Given the description of an element on the screen output the (x, y) to click on. 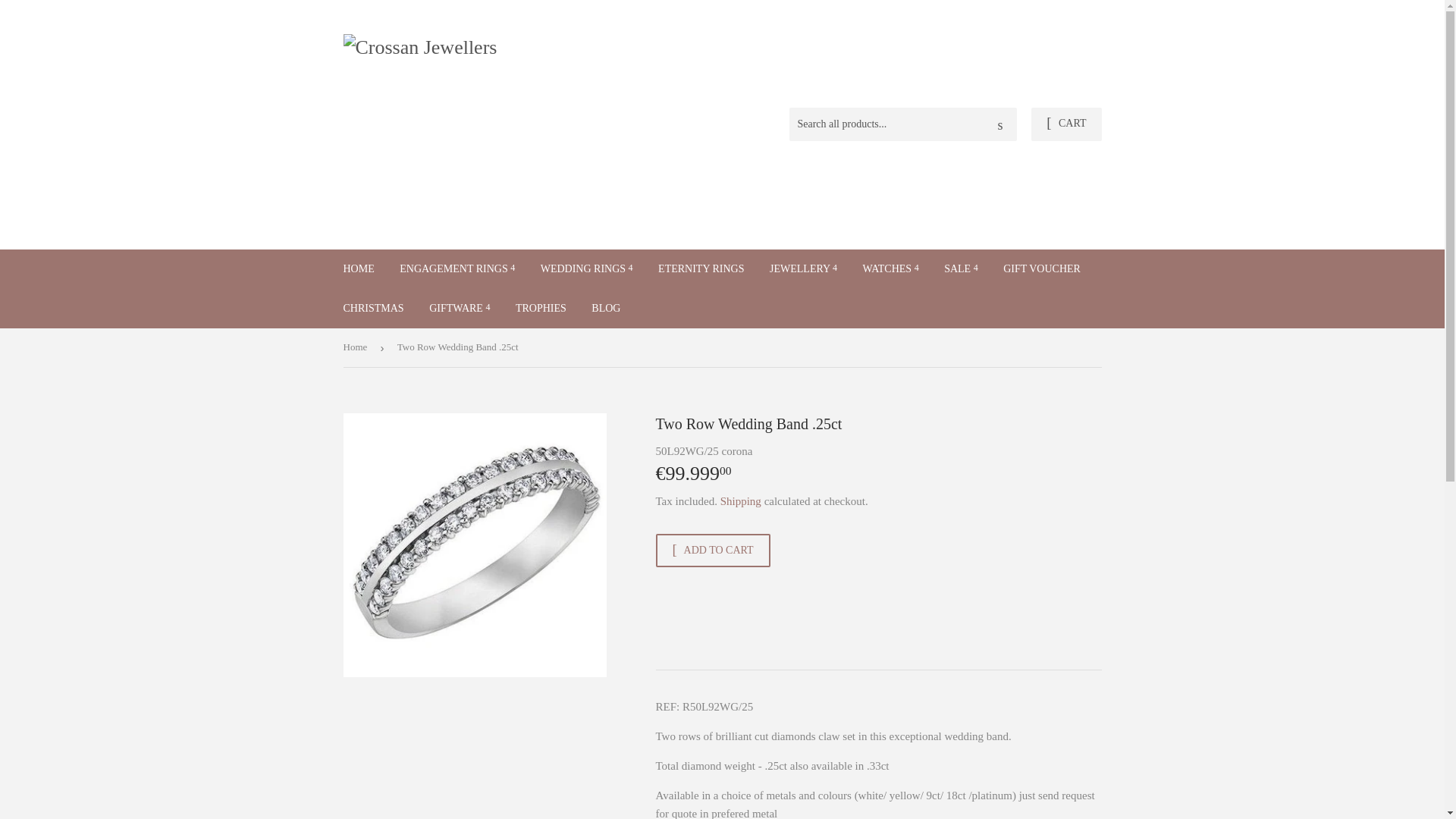
CART (1065, 123)
Search (999, 124)
